Given the description of an element on the screen output the (x, y) to click on. 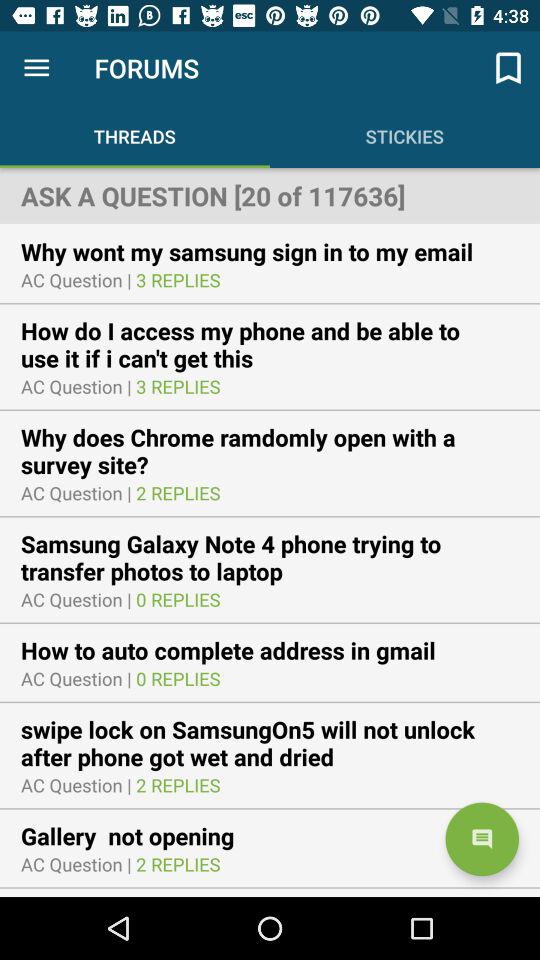
launch the gallery  not opening item (140, 835)
